Given the description of an element on the screen output the (x, y) to click on. 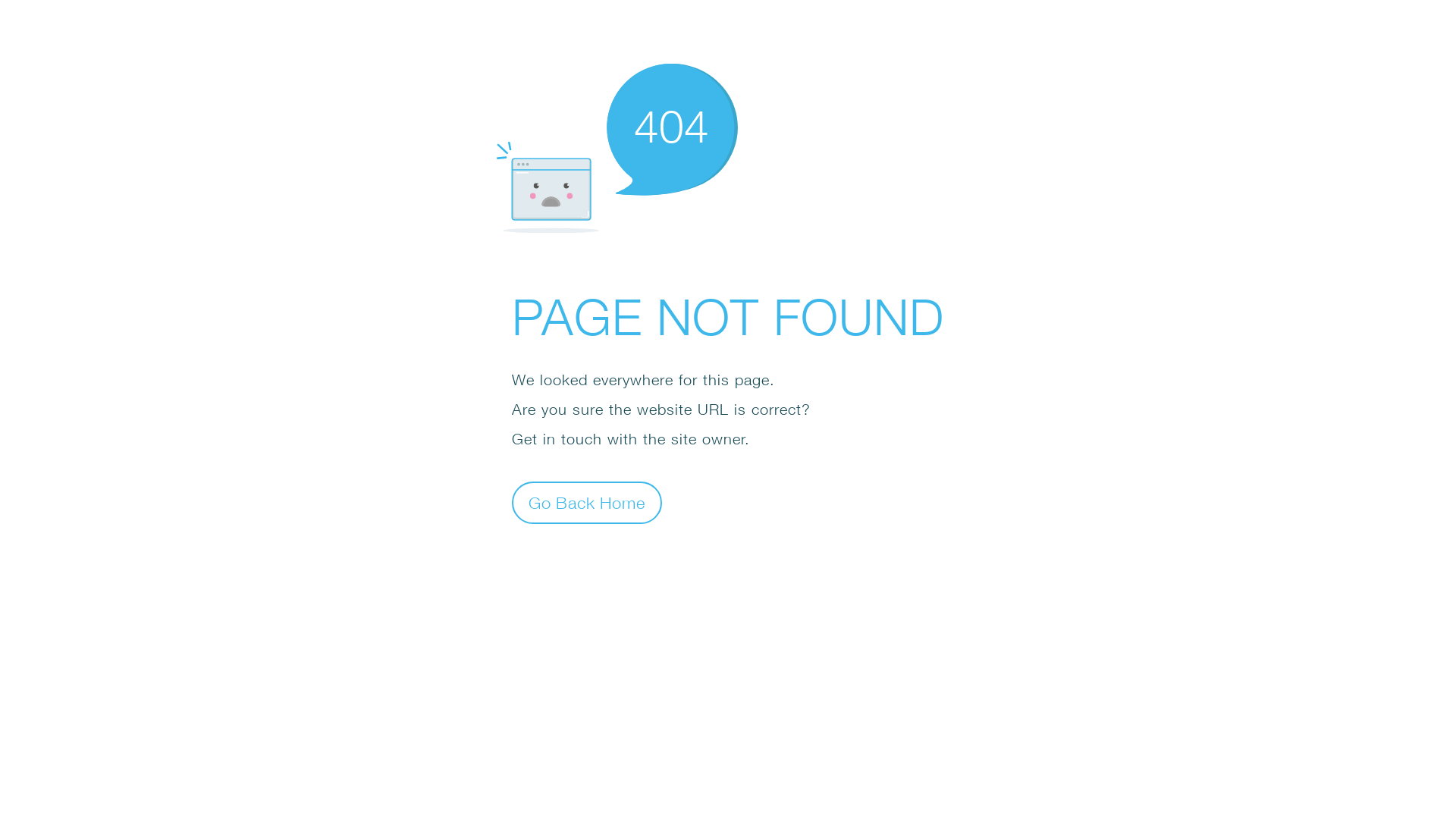
Go Back Home Element type: text (586, 502)
